Given the description of an element on the screen output the (x, y) to click on. 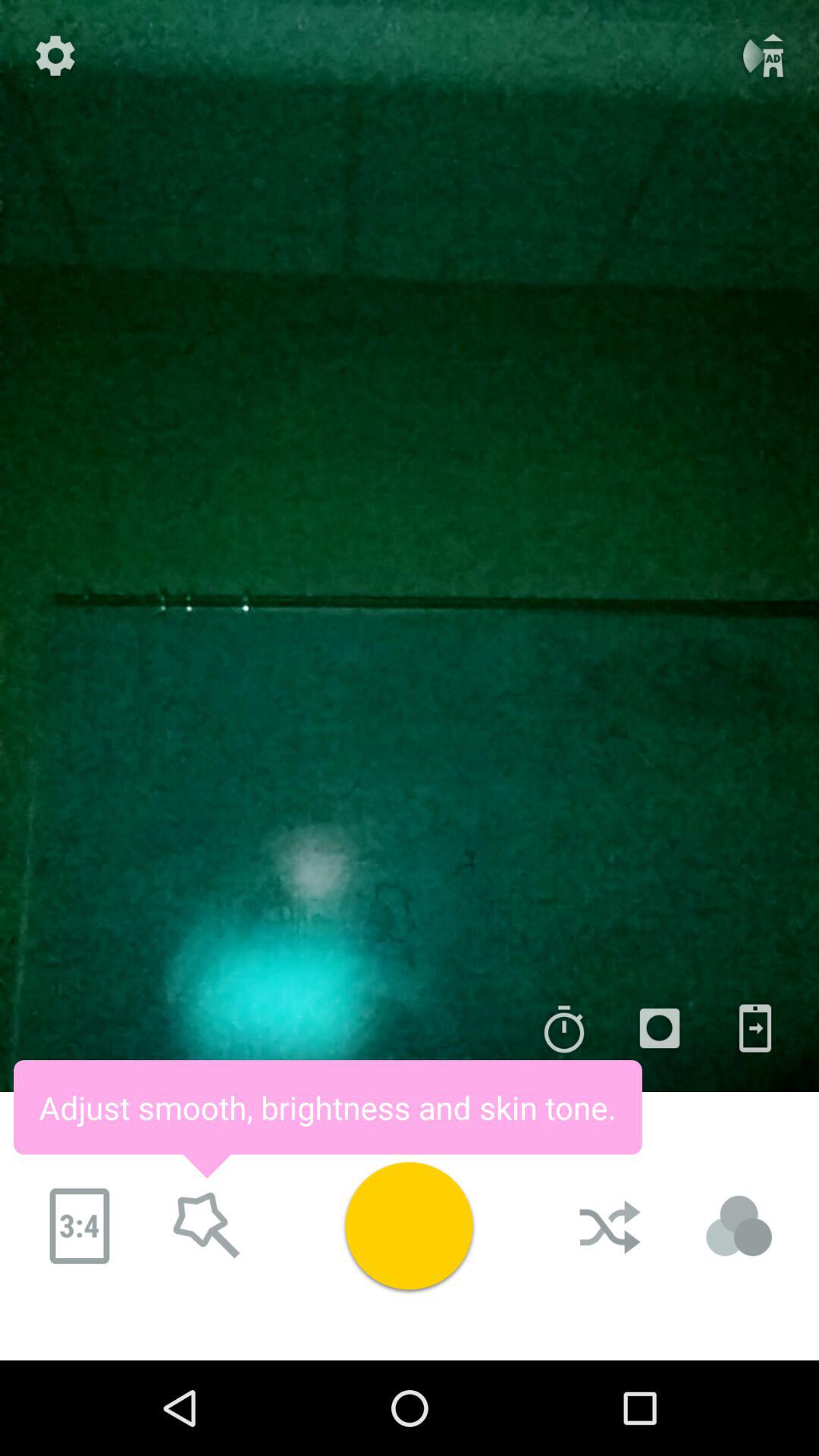
camera (659, 1028)
